Given the description of an element on the screen output the (x, y) to click on. 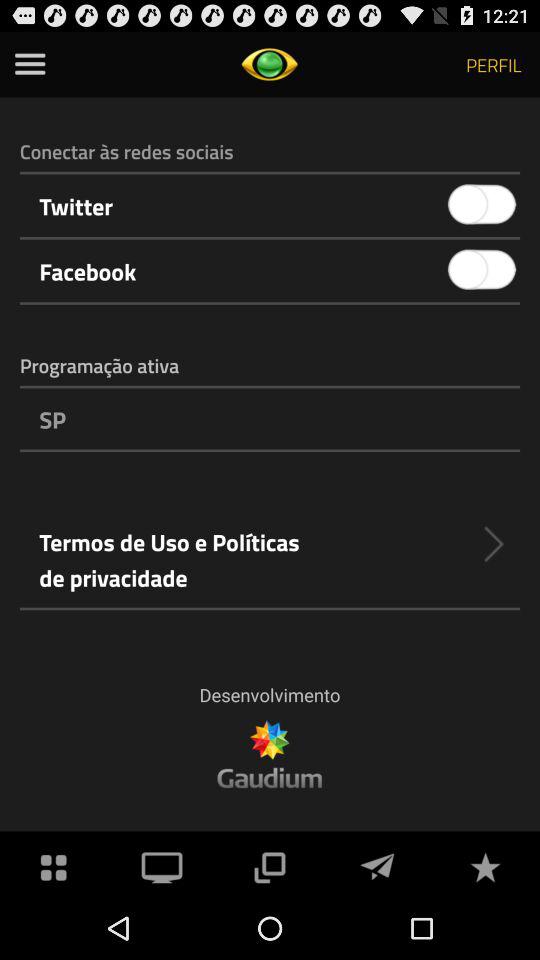
toggle facebook (482, 270)
